Given the description of an element on the screen output the (x, y) to click on. 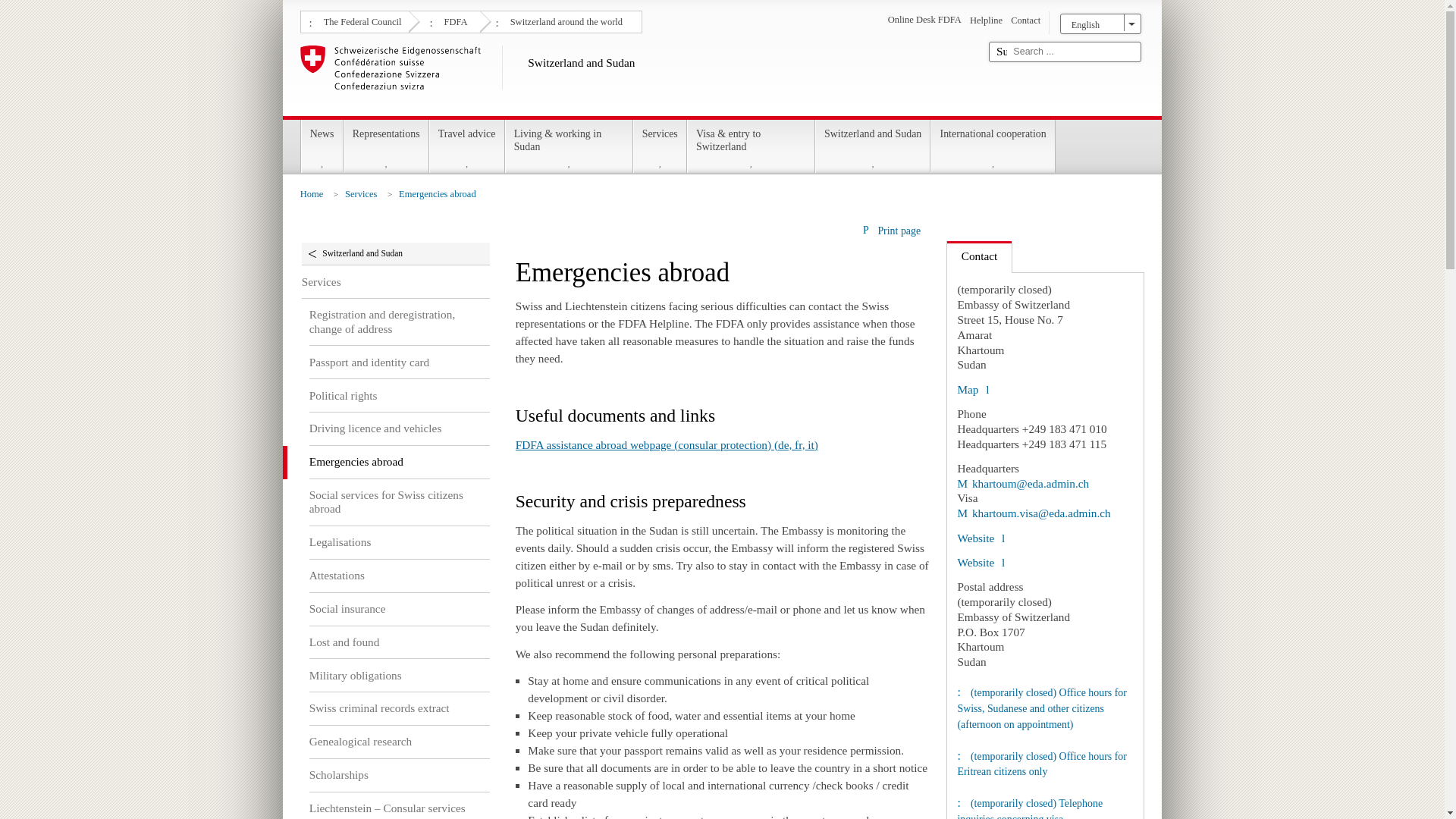
External Link (1032, 512)
FDFA (454, 20)
Switzerland and Sudan (637, 76)
External Link (1022, 482)
Switzerland around the world (564, 20)
External Link (980, 562)
External Link (972, 389)
The Federal Council (360, 20)
External Link (980, 536)
